Given the description of an element on the screen output the (x, y) to click on. 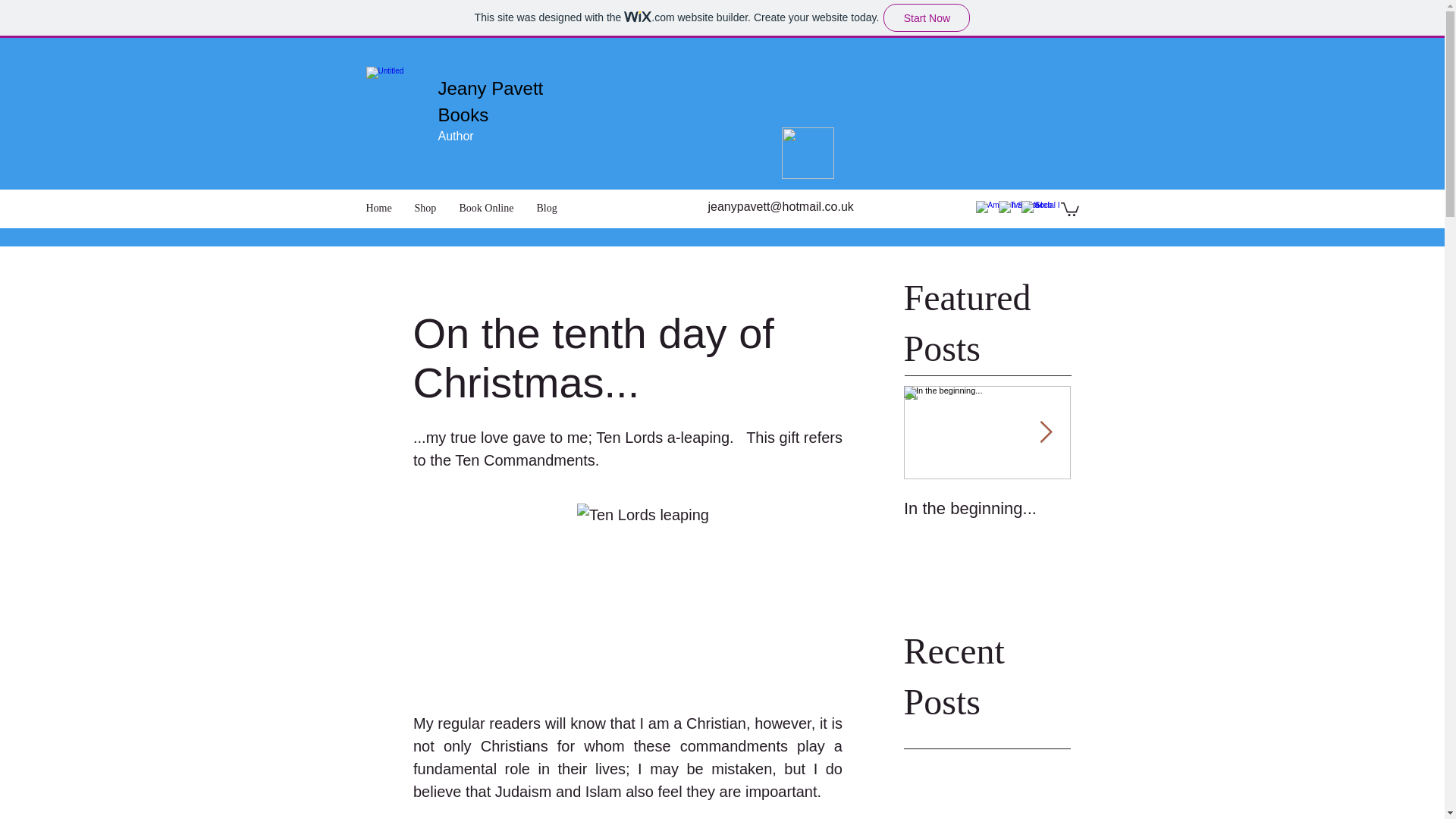
Facebook Like (931, 167)
Home (379, 208)
Shop (425, 208)
Twitter Follow (866, 167)
In the beginning... (987, 508)
Book Online (485, 208)
On My Way (1153, 508)
Blog (545, 208)
